Given the description of an element on the screen output the (x, y) to click on. 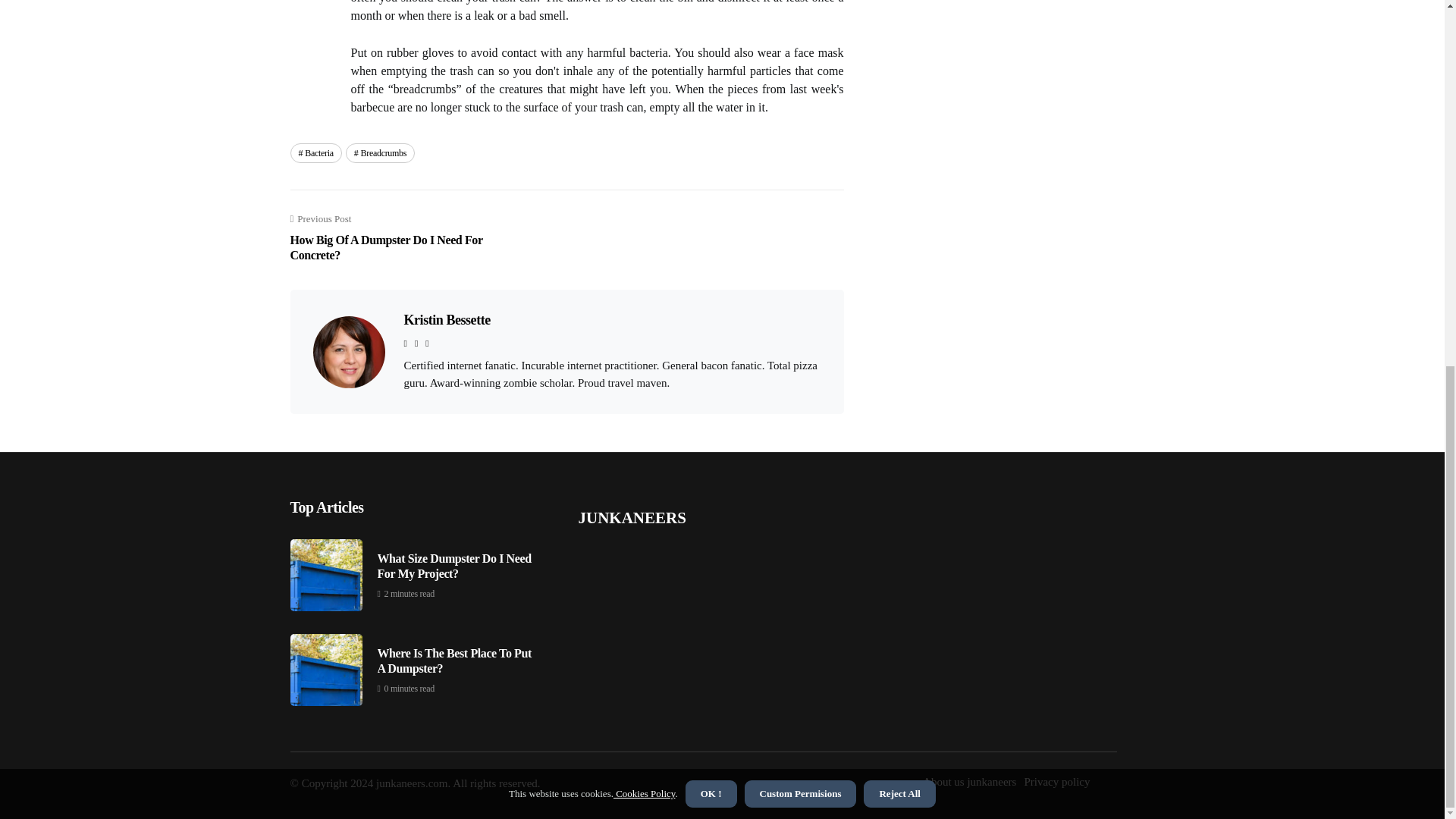
Bacteria (314, 152)
Breadcrumbs (380, 152)
Kristin Bessette (400, 237)
